Given the description of an element on the screen output the (x, y) to click on. 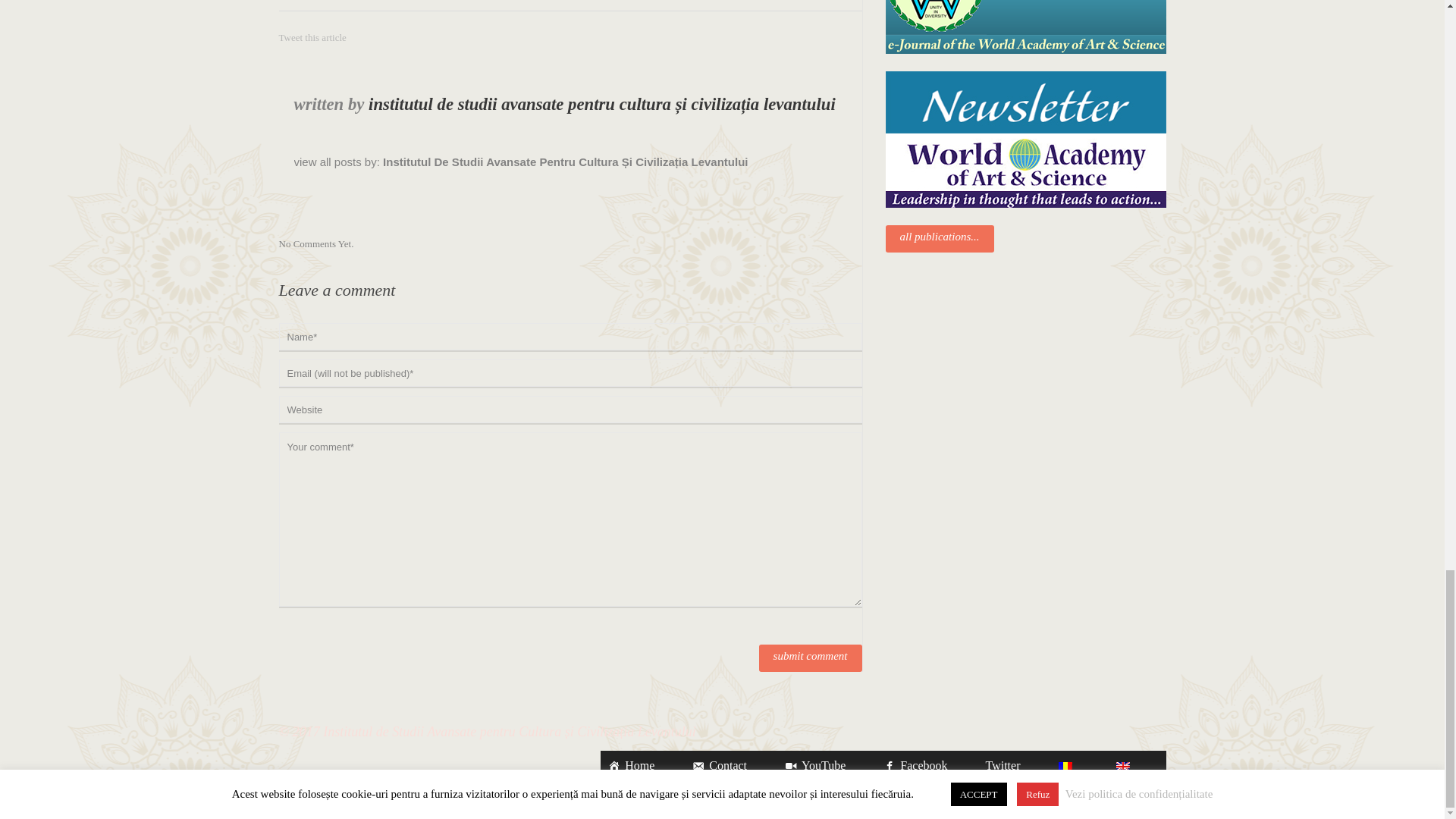
all publications... (939, 238)
Website (570, 409)
Submit Comment (809, 657)
